Given the description of an element on the screen output the (x, y) to click on. 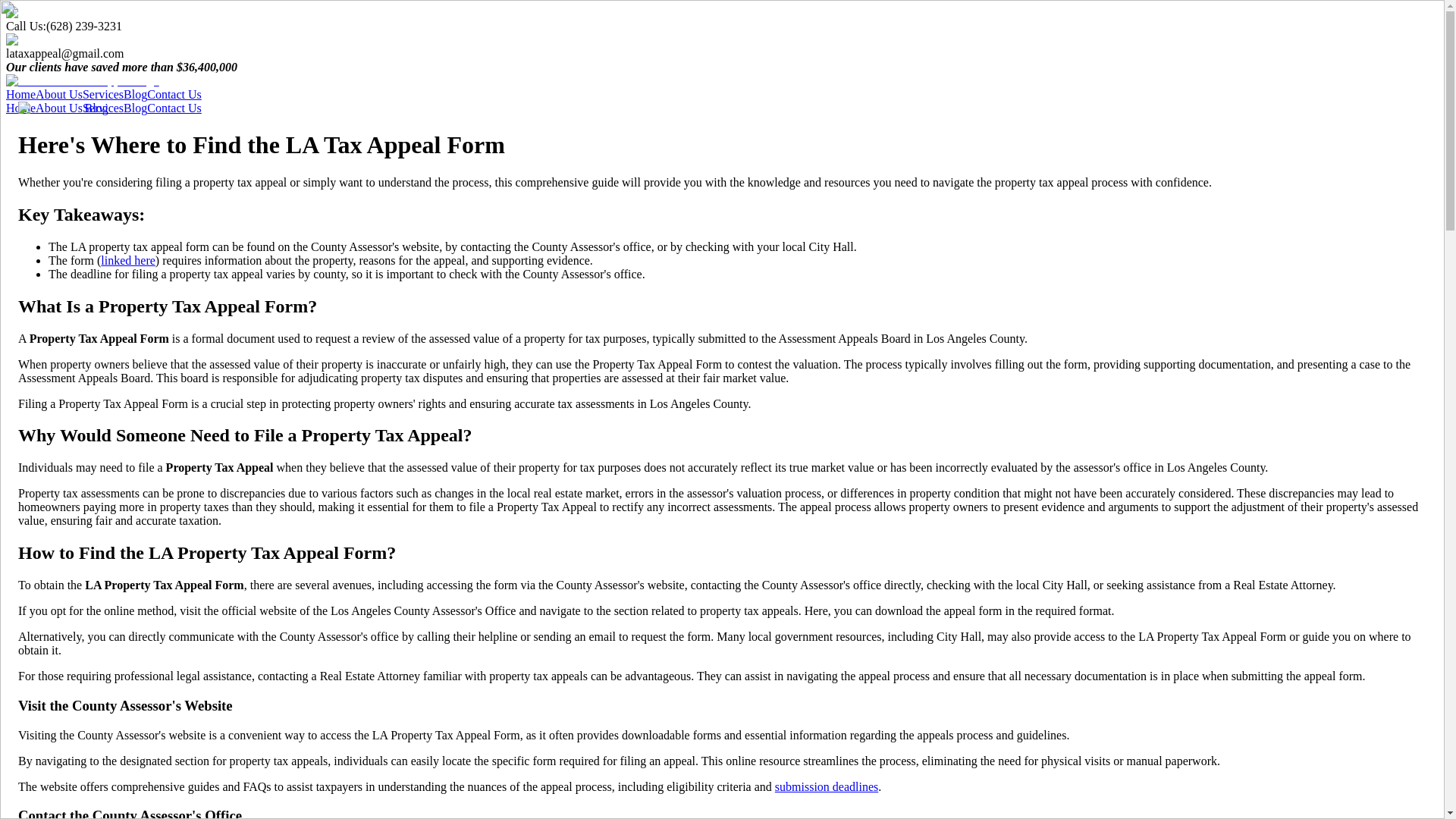
Contact Us (174, 93)
Services (102, 93)
Blog (62, 107)
Home (19, 107)
Home (19, 93)
linked here (127, 259)
Blog (135, 107)
About Us (58, 107)
submission deadlines (825, 786)
About Us (58, 93)
Contact Us (174, 107)
Services (102, 107)
Blog (135, 93)
